Given the description of an element on the screen output the (x, y) to click on. 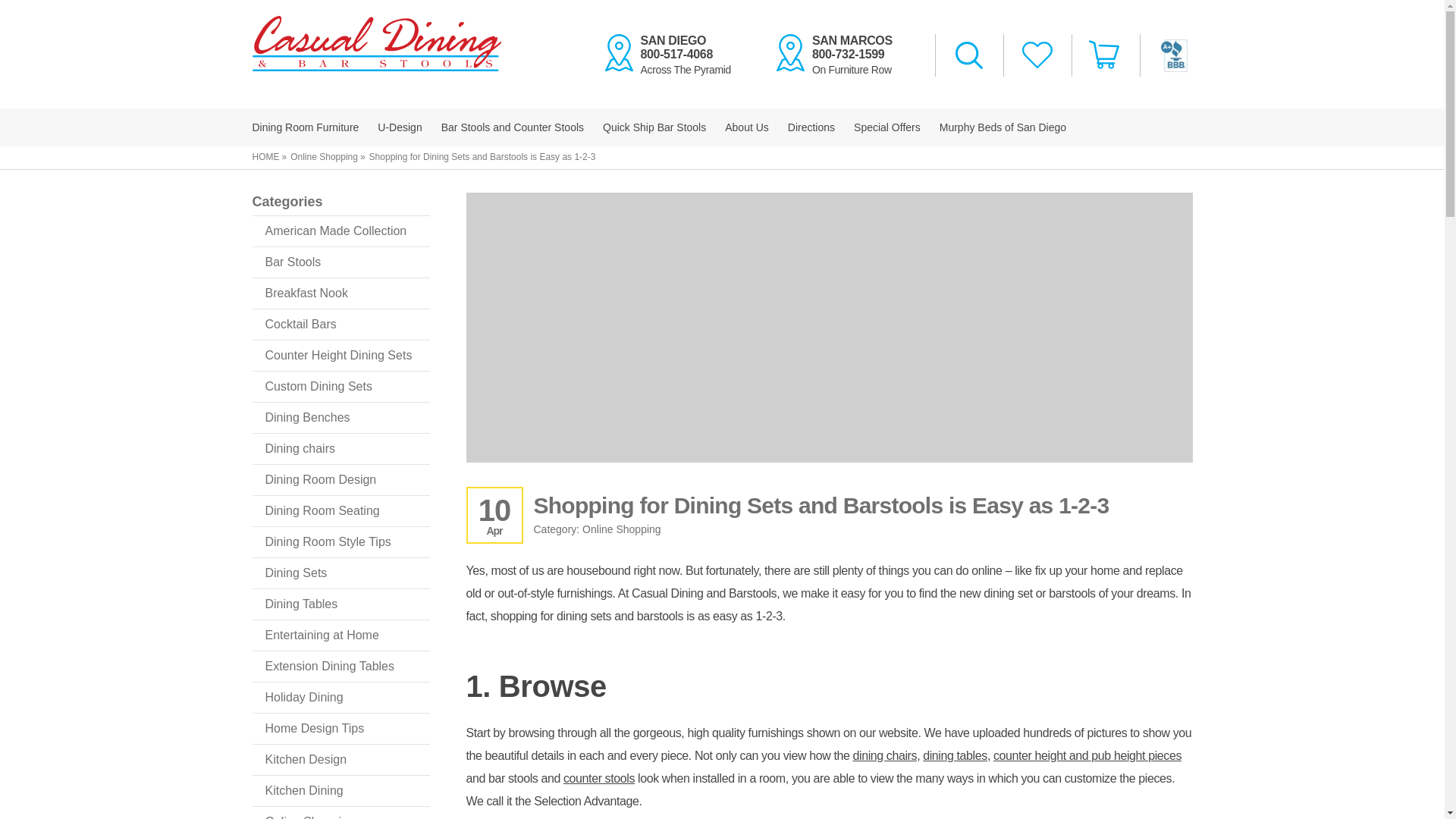
Directions (810, 127)
Wishlist (1037, 56)
Special Offers (886, 127)
Cart (674, 54)
Quick Ship Bar Stools (1105, 54)
Go to the Online Shopping category archives. (654, 127)
Dining Room Furniture (323, 156)
Search (304, 127)
Bar Stools and Counter Stools (968, 55)
About Us (512, 127)
U-Design (746, 127)
